Given the description of an element on the screen output the (x, y) to click on. 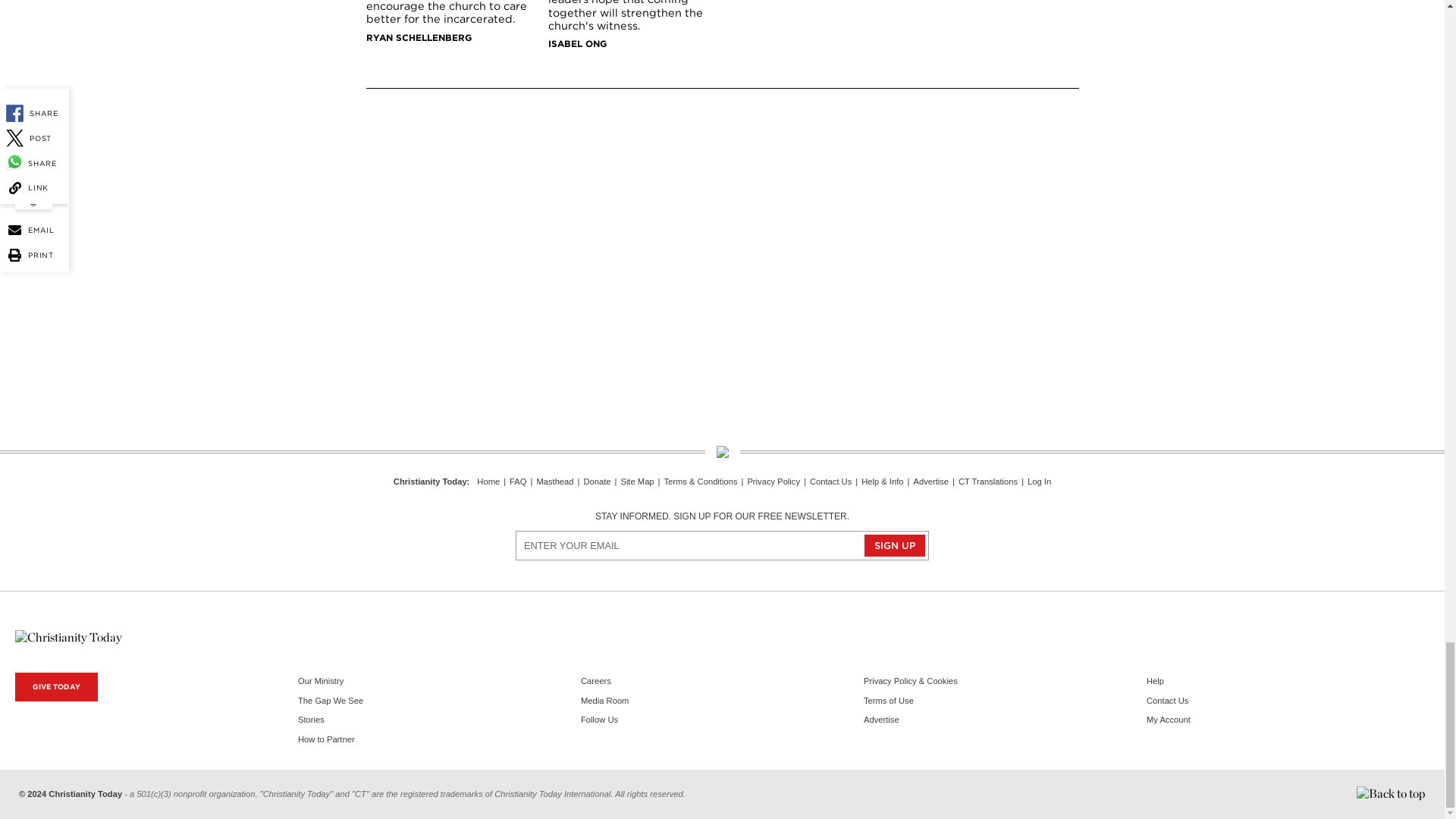
Sign Up (894, 545)
